Given the description of an element on the screen output the (x, y) to click on. 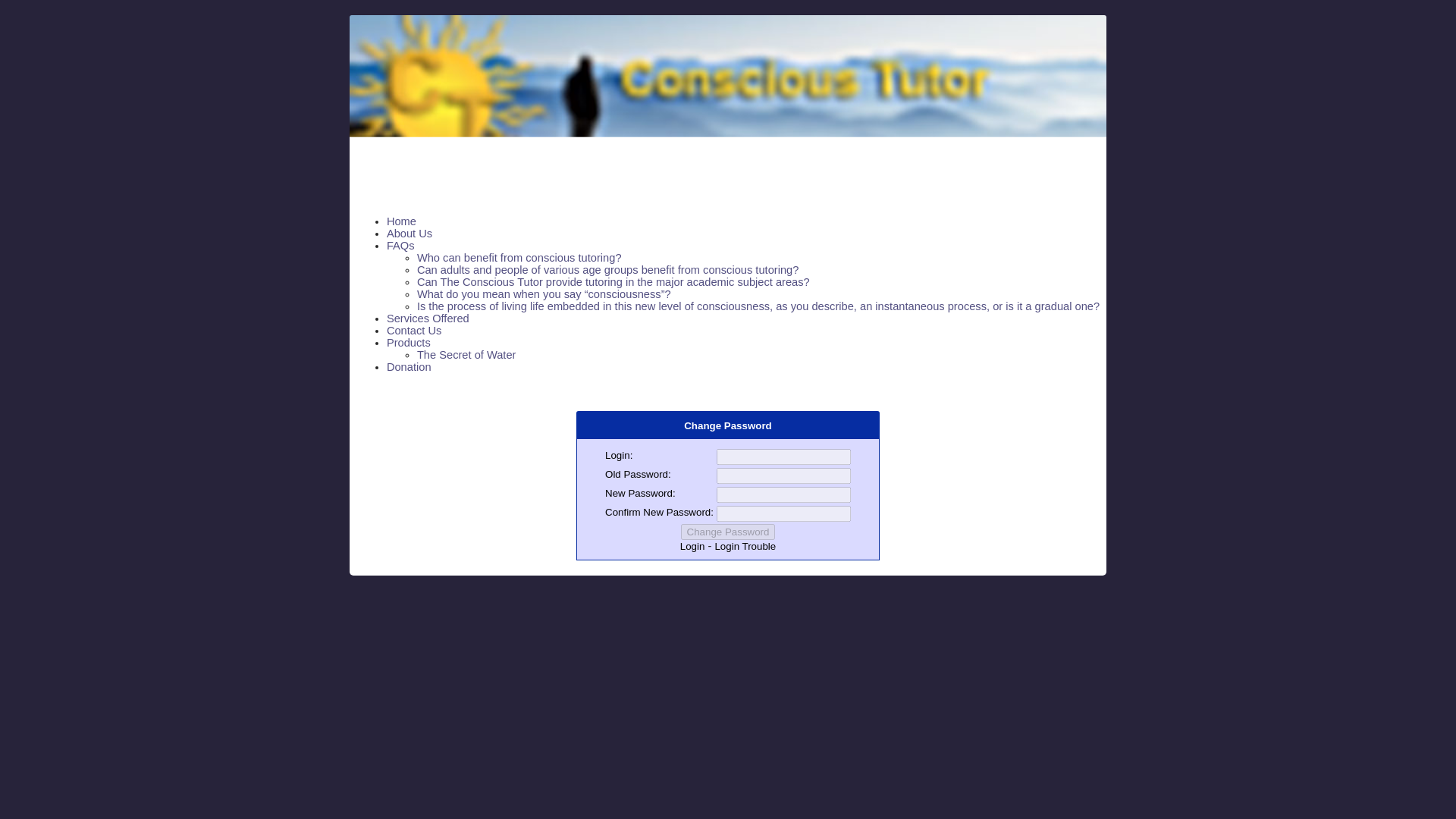
Change Password (728, 531)
Products (408, 342)
The Secret of Water (466, 354)
Home (401, 221)
FAQs (400, 245)
Services Offered (427, 318)
About Us (409, 233)
Login Trouble (745, 546)
Who can benefit from conscious tutoring? (518, 257)
Login (691, 546)
Change Password (728, 531)
Donation (408, 367)
Contact Us (414, 330)
